Given the description of an element on the screen output the (x, y) to click on. 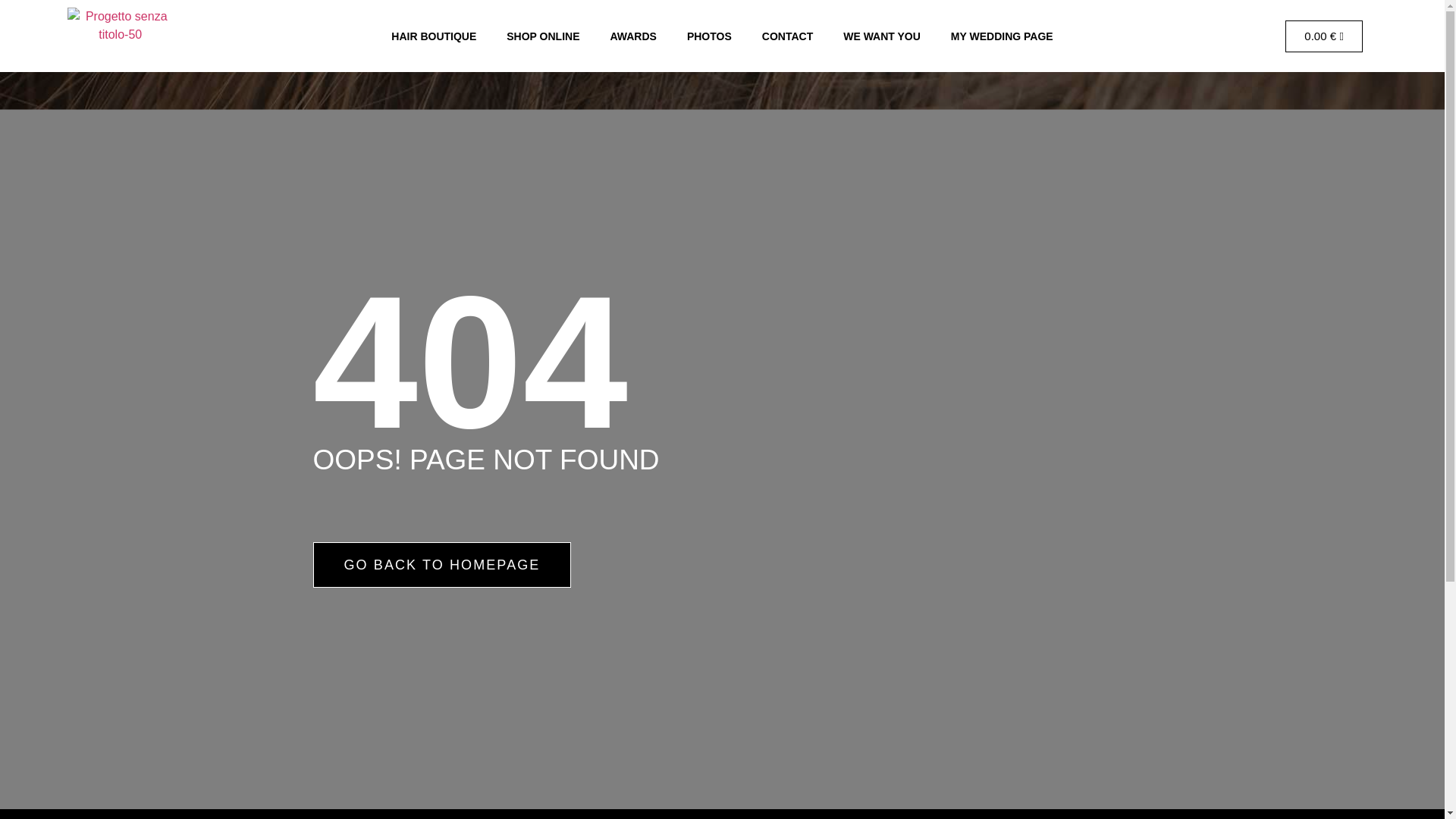
CONTACT (787, 35)
AWARDS (632, 35)
Progetto senza titolo-50 (119, 35)
WE WANT YOU (882, 35)
SHOP ONLINE (543, 35)
MY WEDDING PAGE (1002, 35)
PHOTOS (708, 35)
HAIR BOUTIQUE (433, 35)
GO BACK TO HOMEPAGE (441, 564)
